Given the description of an element on the screen output the (x, y) to click on. 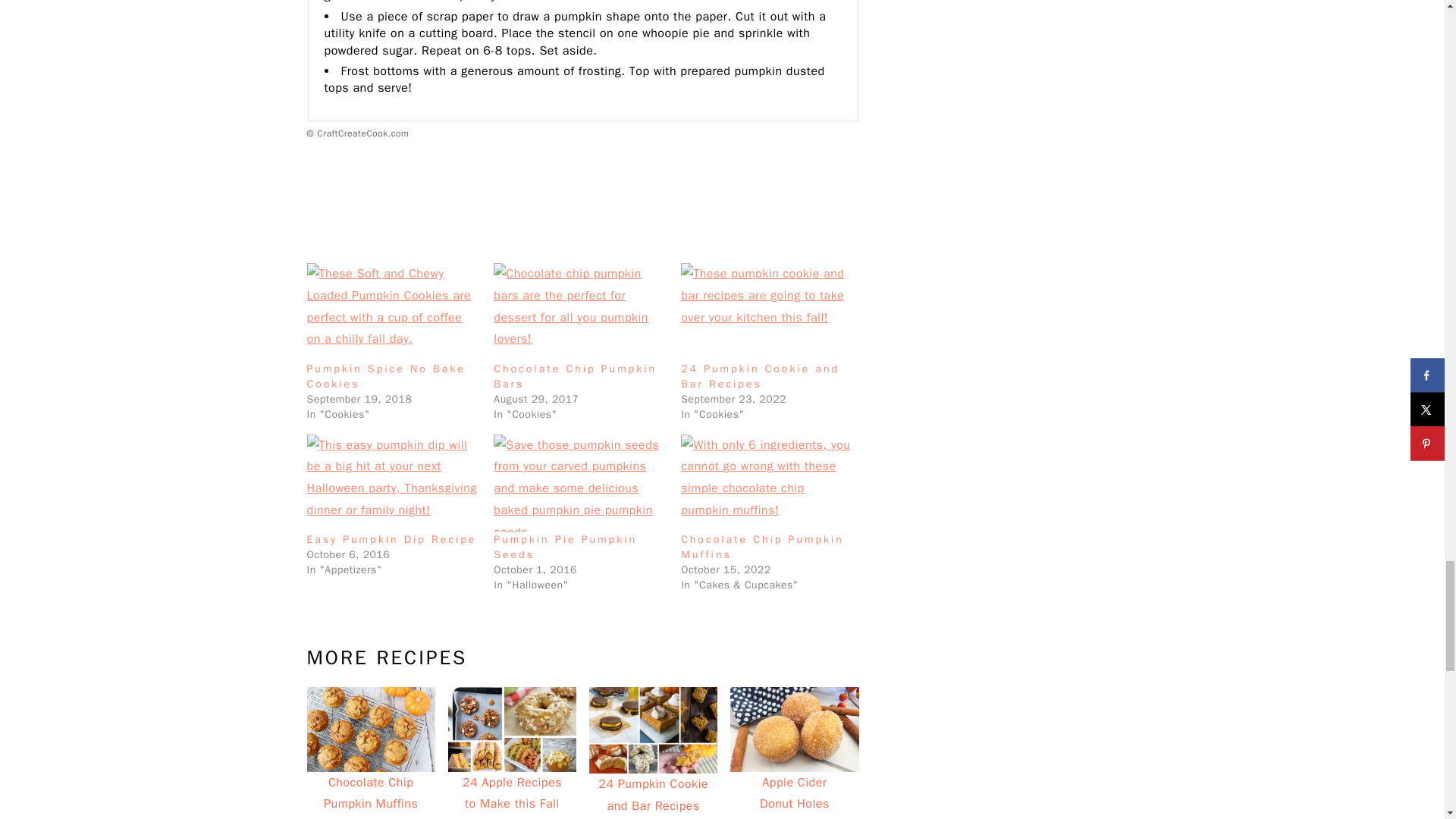
Pumpkin Pie Pumpkin Seeds (579, 483)
24 Pumpkin Cookie and Bar Recipes (767, 311)
Pumpkin Spice No Bake Cookies (384, 376)
Chocolate Chip Pumpkin Bars (574, 376)
Chocolate Chip Pumpkin Bars (579, 311)
Easy Pumpkin Dip Recipe (392, 483)
Easy Pumpkin Dip Recipe (390, 539)
Chocolate Chip Pumpkin Muffins (762, 547)
Pumpkin Spice No Bake Cookies (392, 311)
Pumpkin Pie Pumpkin Seeds (565, 547)
